Given the description of an element on the screen output the (x, y) to click on. 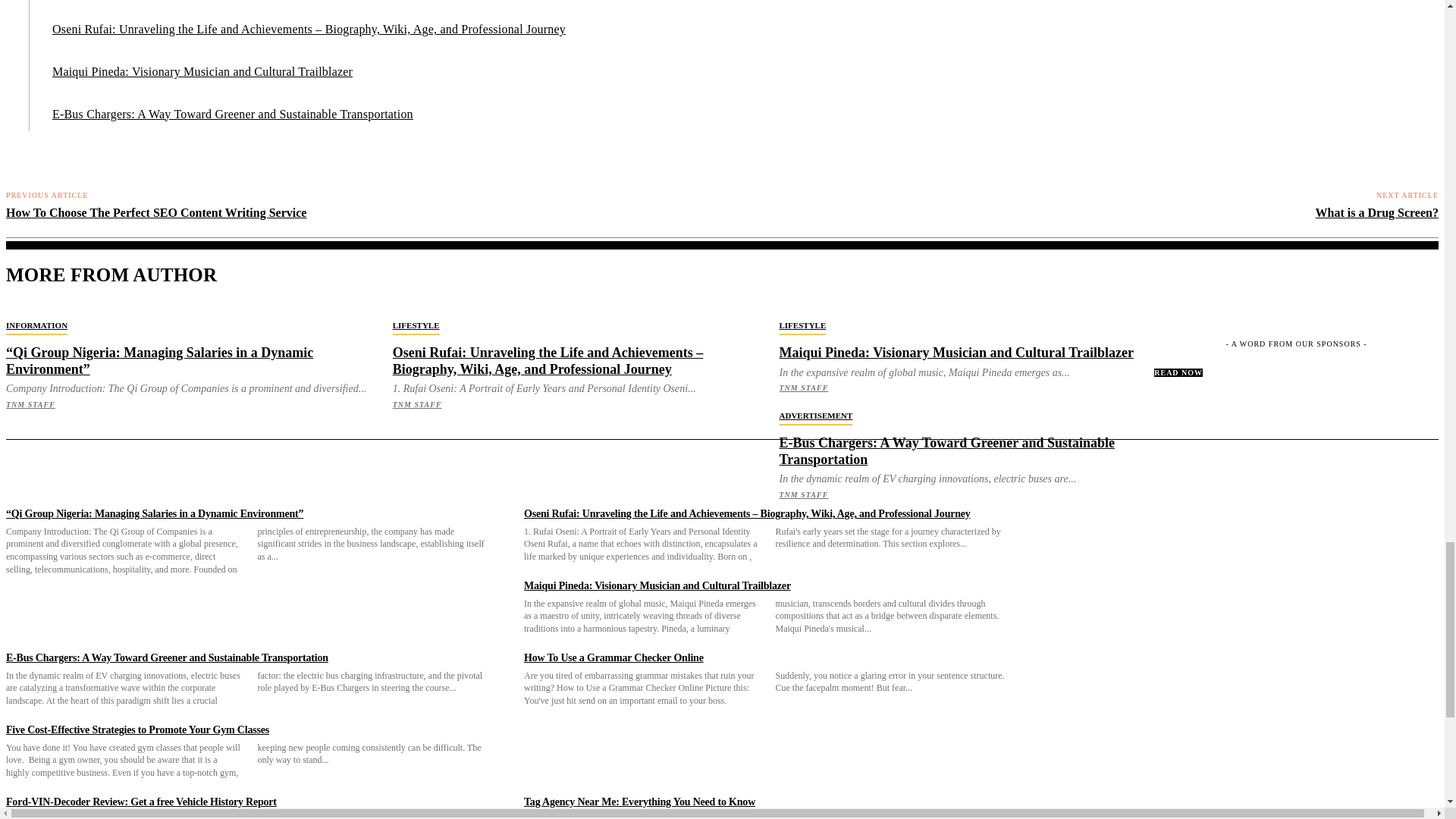
Maiqui Pineda: Visionary Musician and Cultural Trailblazer (202, 71)
